Given the description of an element on the screen output the (x, y) to click on. 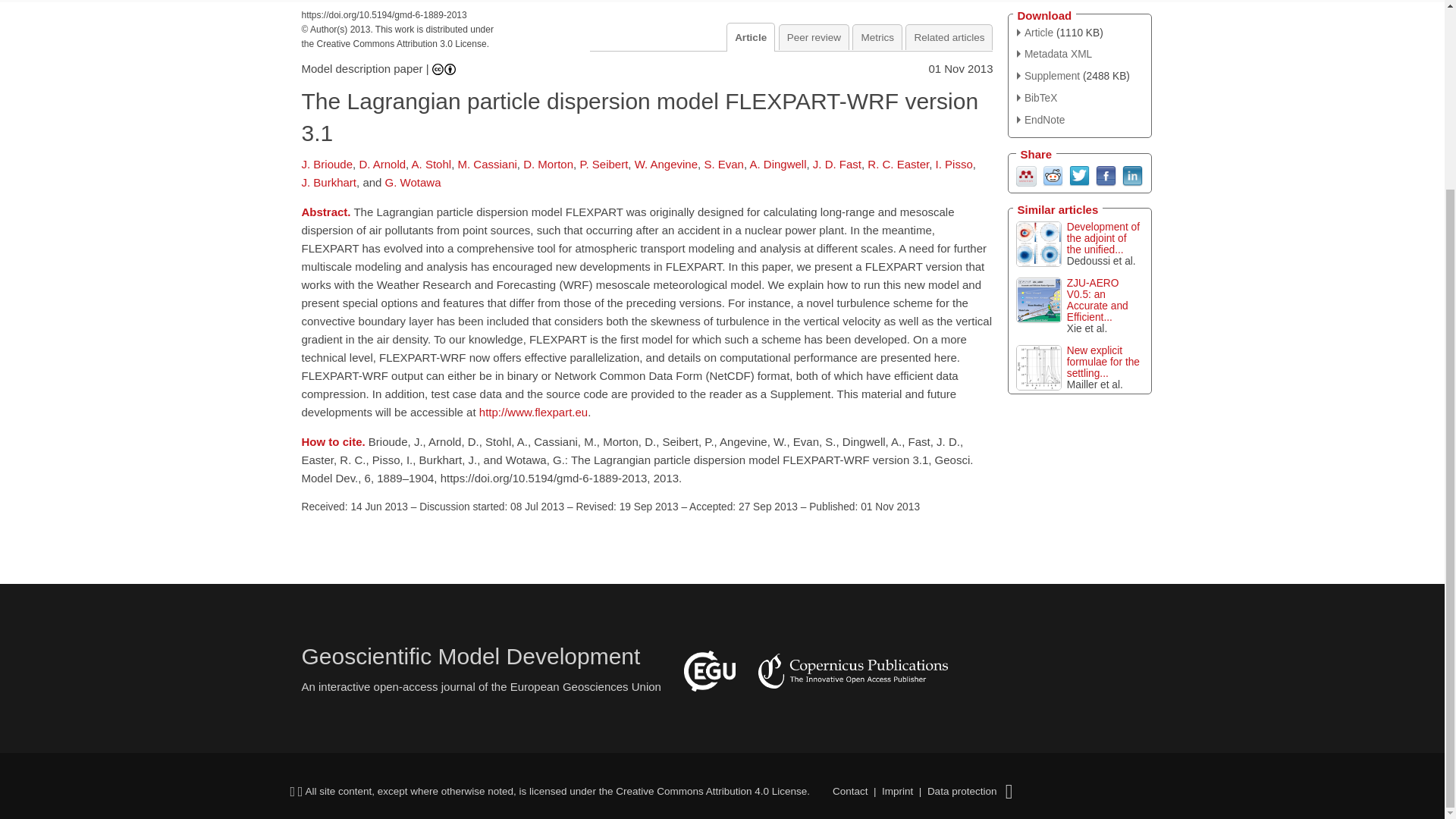
XML Version (1054, 53)
Twitter (1078, 174)
Reddit (1052, 174)
Mendeley (1026, 174)
